Given the description of an element on the screen output the (x, y) to click on. 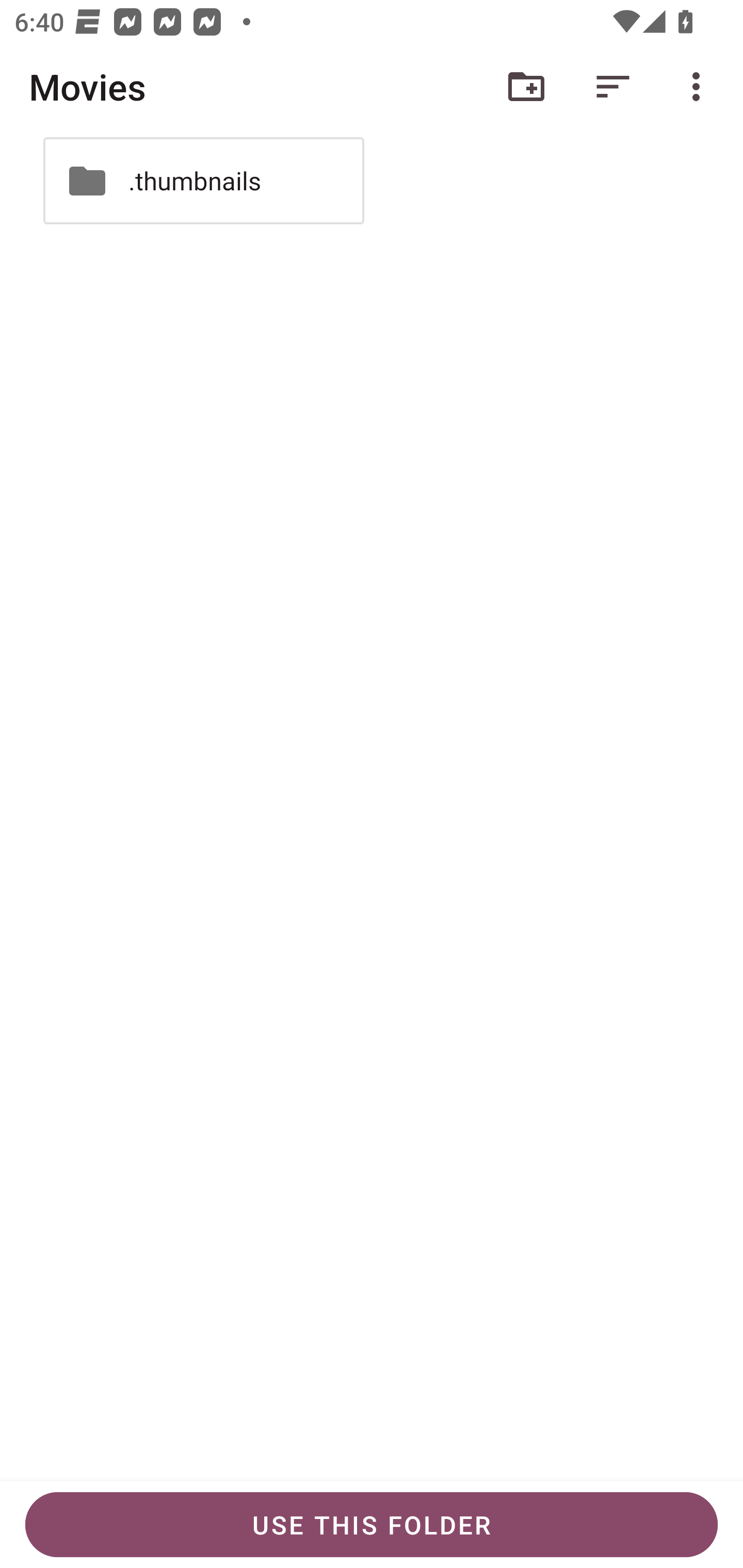
New folder (525, 86)
Sort by... (612, 86)
More options (699, 86)
.thumbnails (203, 180)
USE THIS FOLDER (371, 1524)
